Given the description of an element on the screen output the (x, y) to click on. 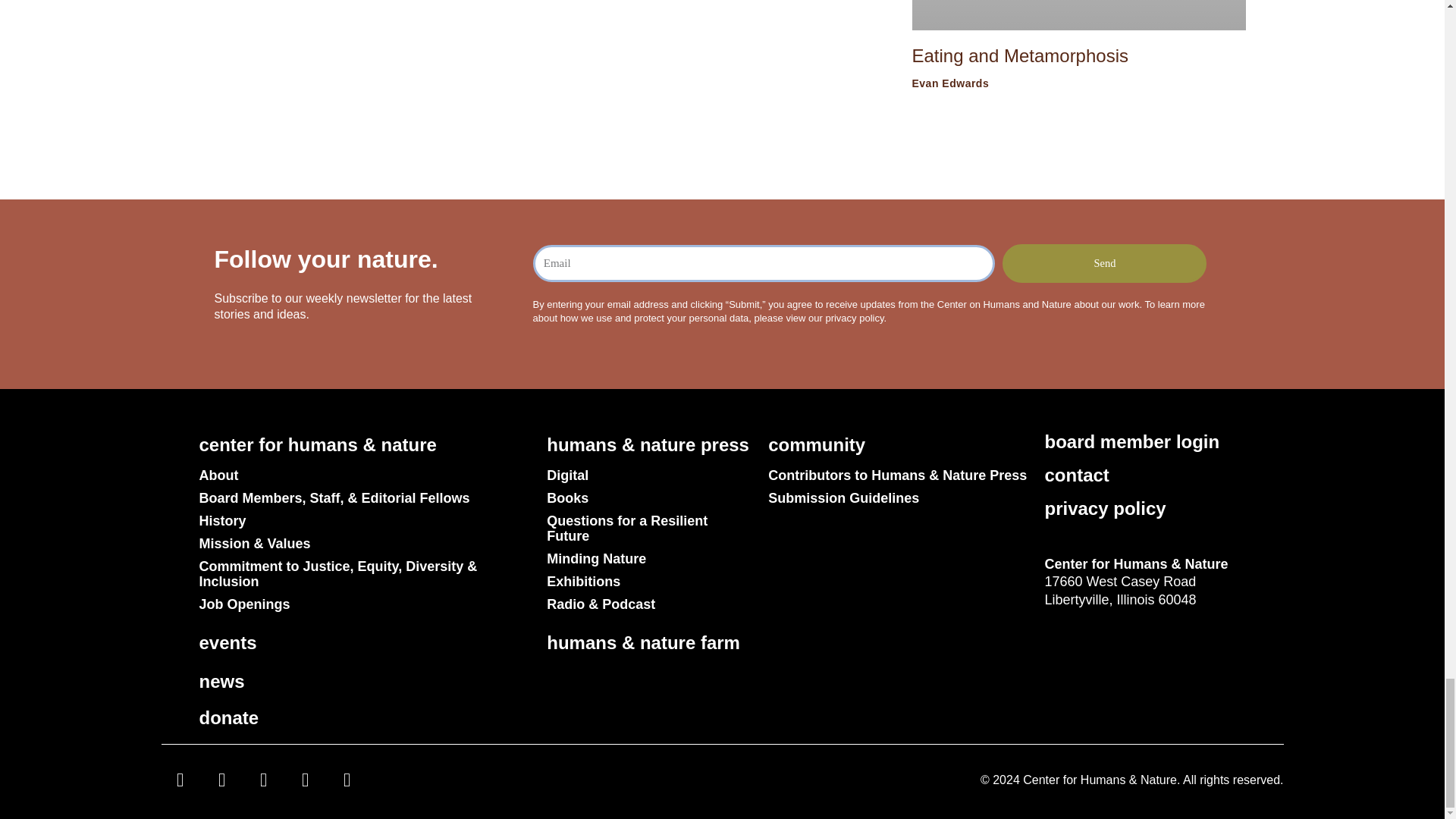
news (221, 680)
Job Openings (364, 603)
events (227, 642)
Eating and Metamorphosis (1019, 55)
Digital (649, 475)
donate (228, 717)
Minding Nature (649, 558)
Send (1105, 262)
About (364, 475)
Books (649, 497)
